Given the description of an element on the screen output the (x, y) to click on. 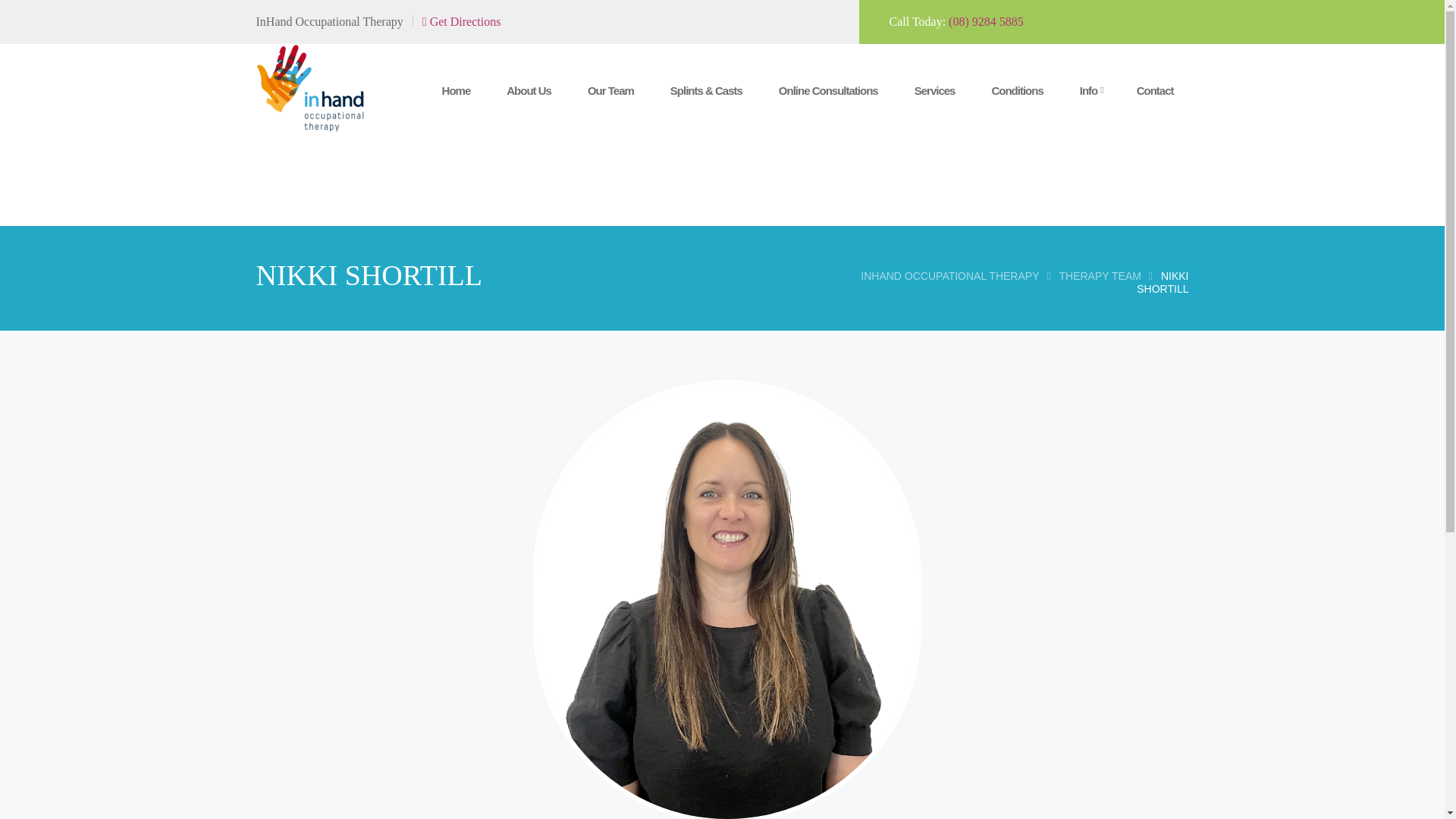
Services (935, 90)
INHAND OCCUPATIONAL THERAPY (949, 275)
About Us (529, 90)
Contact (1155, 90)
Our Team (610, 90)
Go to InHand Occupational Therapy. (949, 275)
Get Directions (461, 21)
Conditions (1016, 90)
Online Consultations (827, 90)
Home (456, 90)
Go to the Therapy Team Staff Categories archives. (1099, 275)
THERAPY TEAM (1099, 275)
Info (1089, 90)
InHand Occupational Therapy (310, 87)
